Given the description of an element on the screen output the (x, y) to click on. 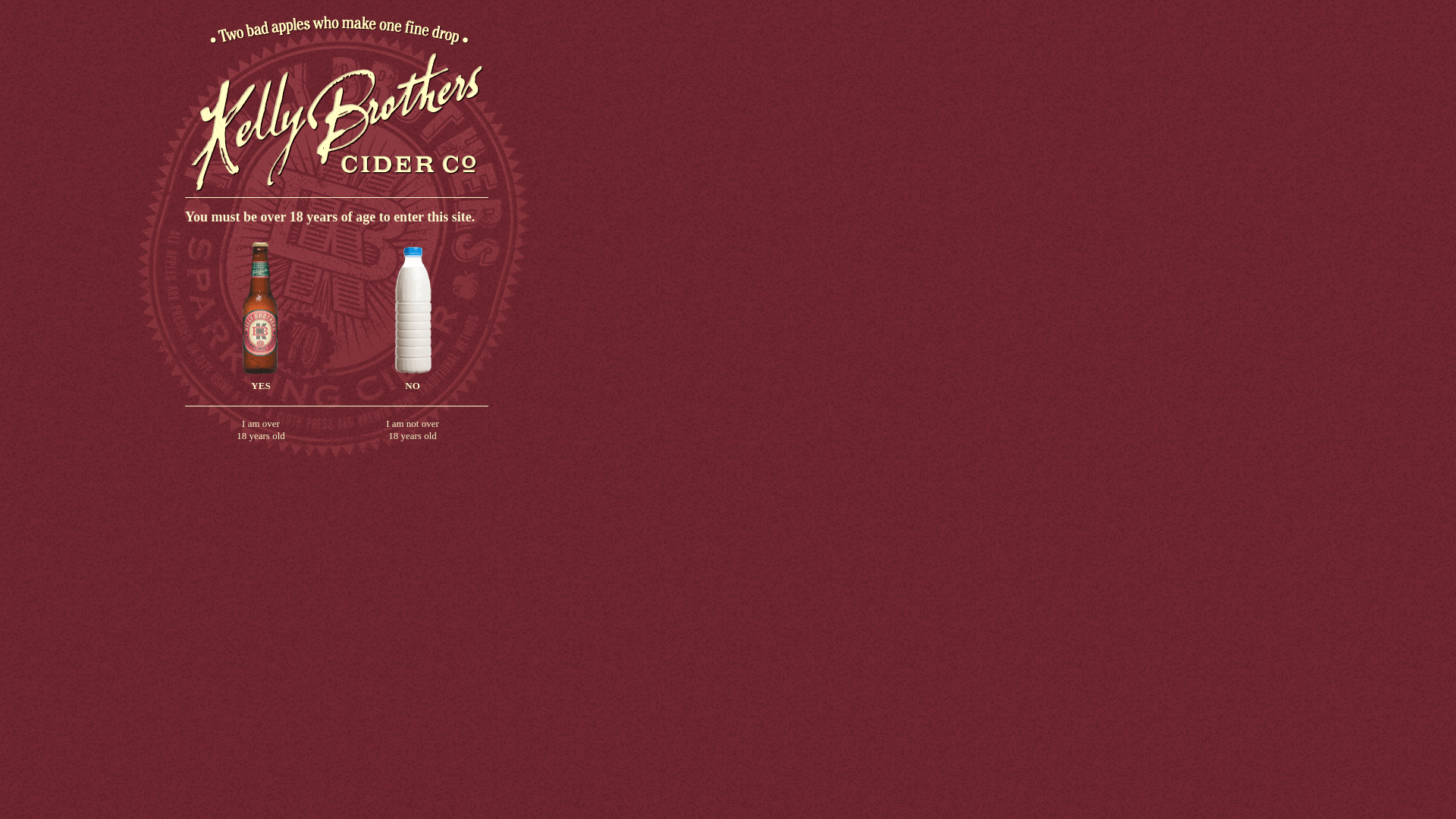
NO Element type: text (412, 380)
YES Element type: text (260, 380)
